Given the description of an element on the screen output the (x, y) to click on. 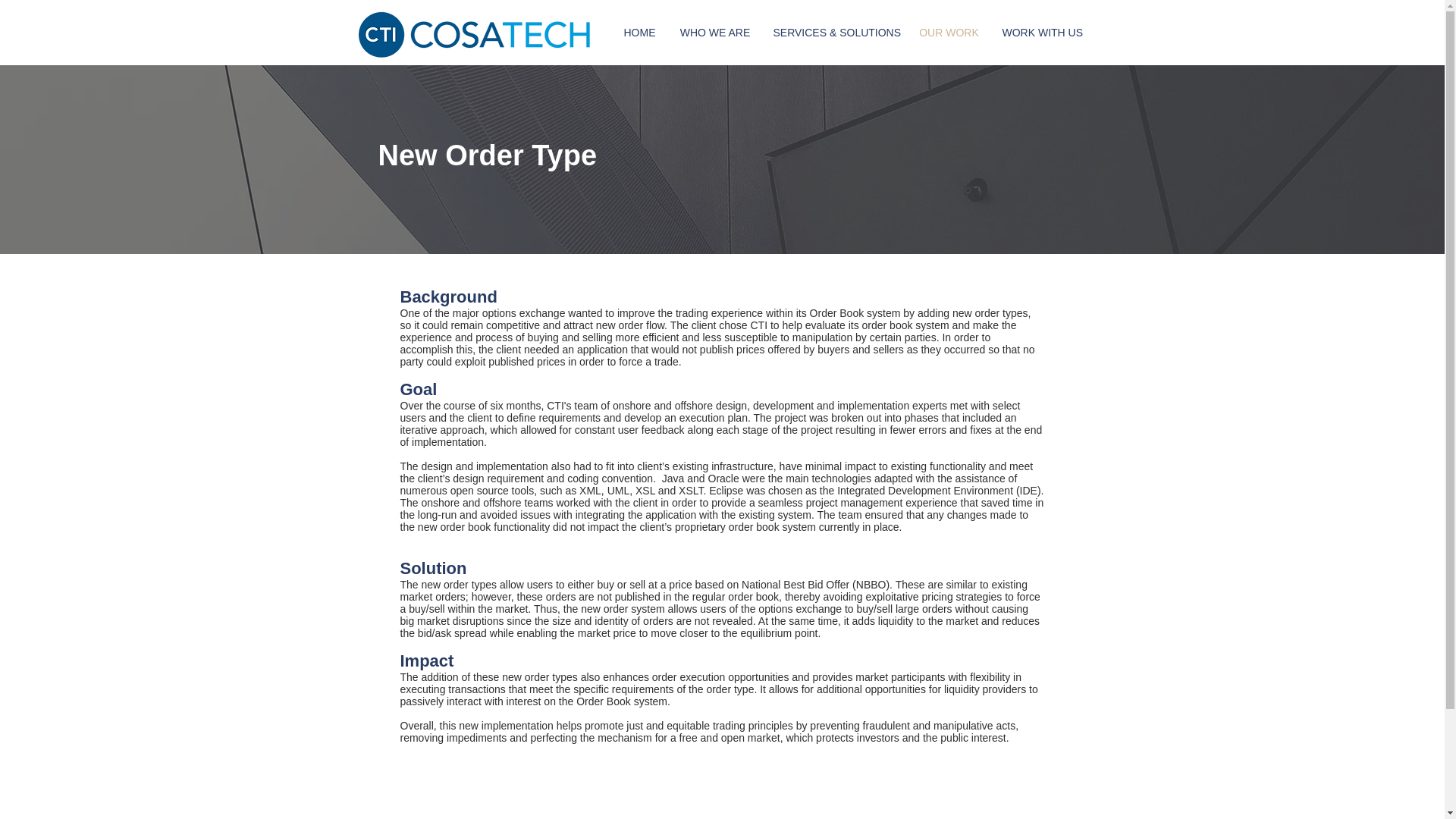
WORK WITH US (1041, 32)
OUR WORK (948, 32)
WHO WE ARE (714, 32)
HOME (639, 32)
